Given the description of an element on the screen output the (x, y) to click on. 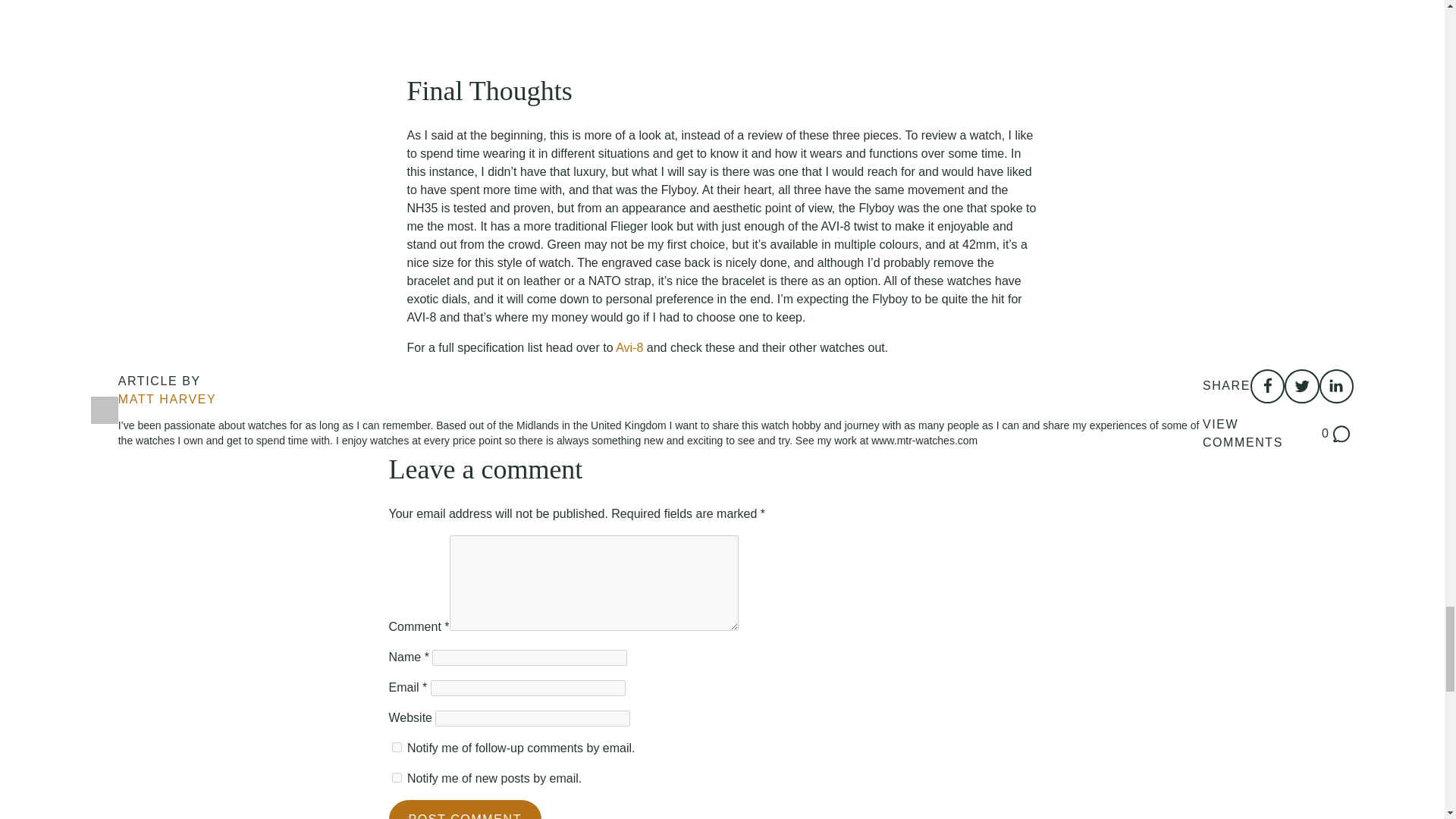
Avi-8 (629, 347)
Share on Facebook (1278, 433)
Share on LinkedIn (1267, 386)
Share on Twitter (1336, 386)
MATT HARVEY (1301, 386)
Post Comment (166, 399)
subscribe (464, 809)
subscribe (396, 777)
